Given the description of an element on the screen output the (x, y) to click on. 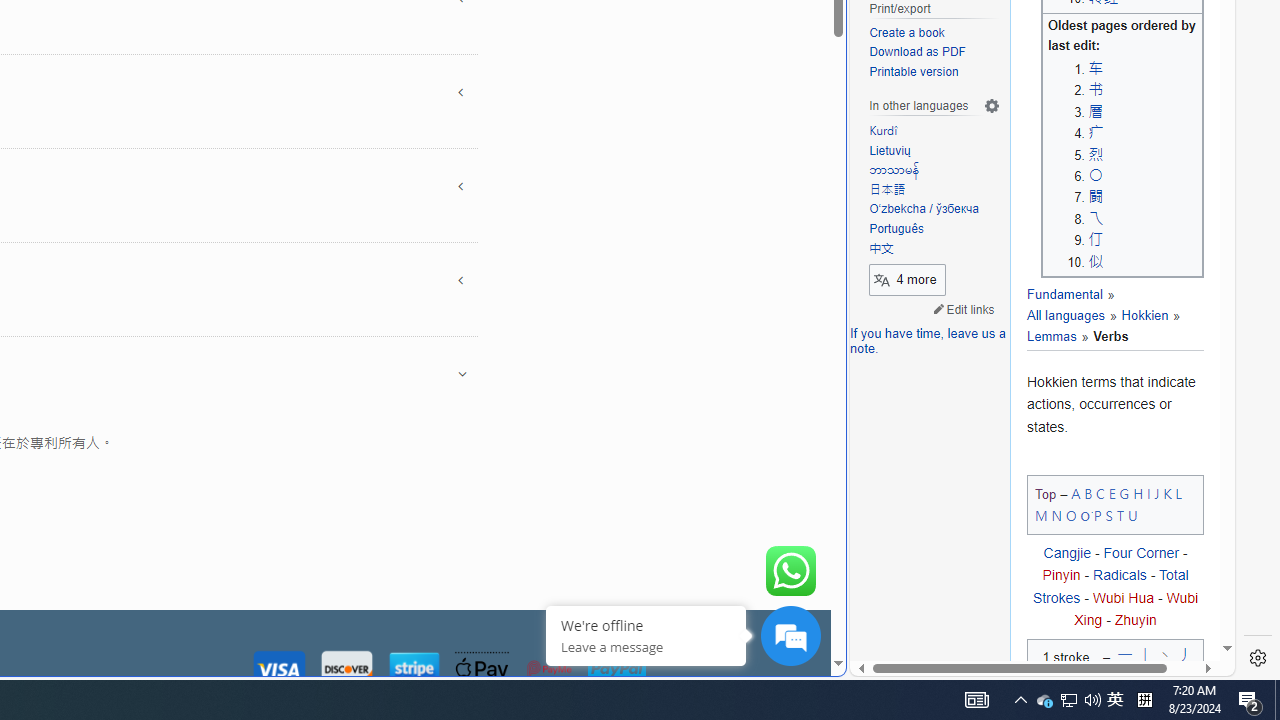
J (1156, 492)
T (1120, 515)
Total Strokes (1110, 586)
U (1132, 515)
L (1178, 492)
N (1056, 515)
Download as PDF (917, 51)
Fundamental (1064, 295)
All languages (1065, 316)
